Given the description of an element on the screen output the (x, y) to click on. 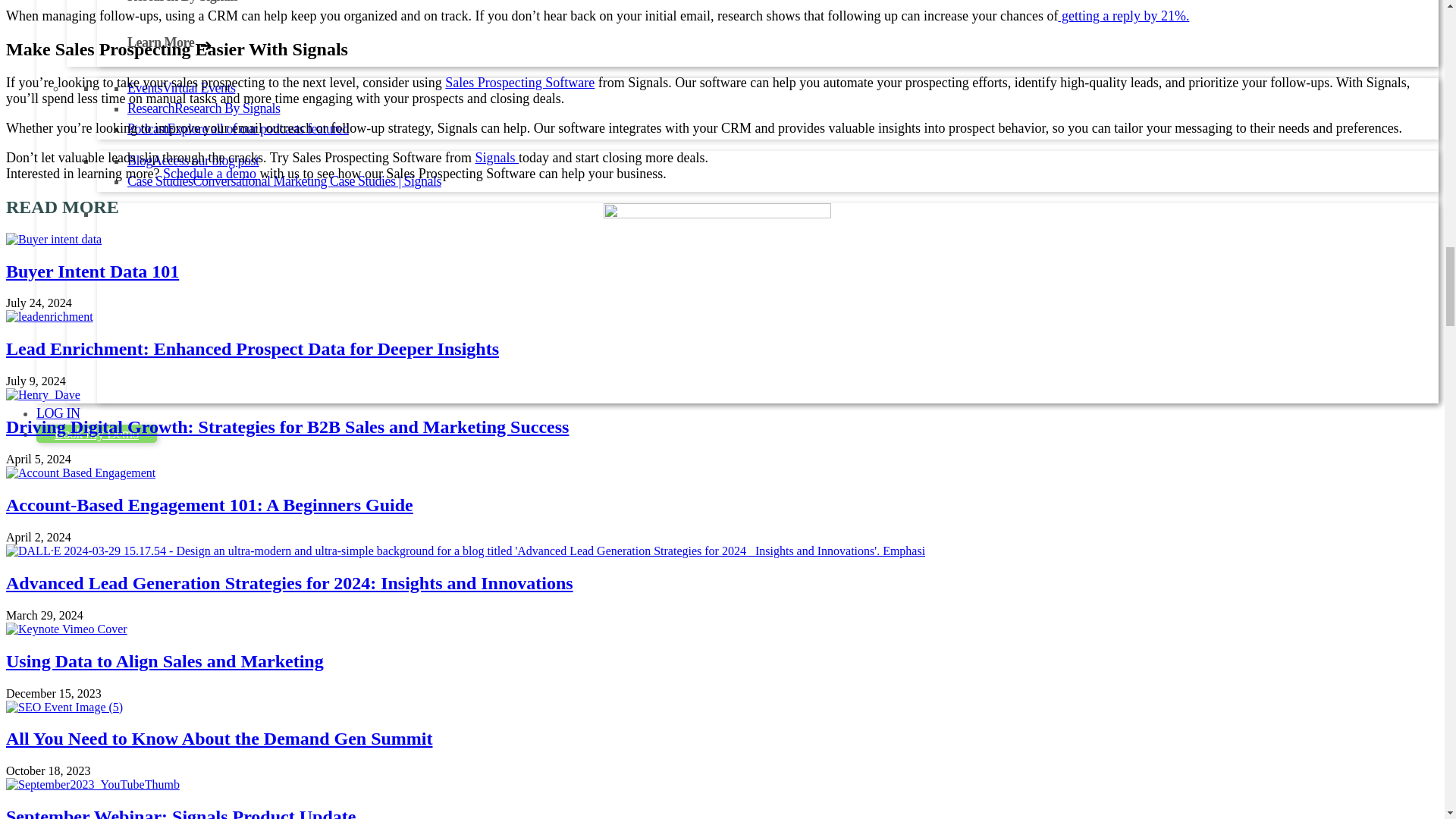
PodcastExplore all of our podcasts featured (238, 128)
Using Data to Align Sales and Marketing (164, 660)
leadenrichment (49, 316)
Account Based Engagement (80, 472)
Keynote Vimeo Cover (66, 629)
Book My Demo (96, 434)
EventsVirtual Events (181, 87)
LOG IN (58, 412)
BlogAccess our blog post (193, 160)
